Given the description of an element on the screen output the (x, y) to click on. 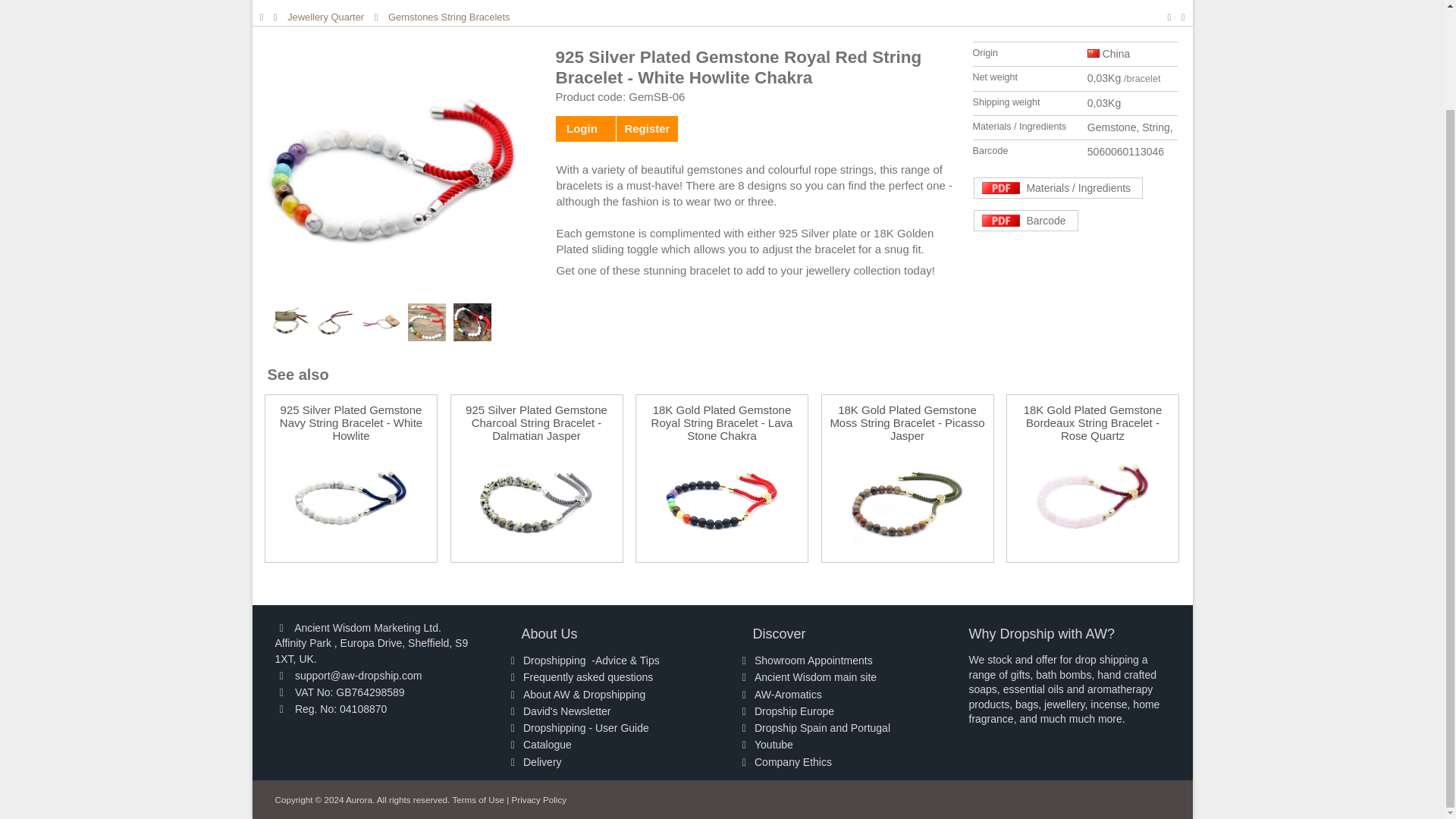
Home (287, 4)
Delivery (476, 4)
Departments (379, 4)
Inspiration (732, 4)
NEW (649, 4)
Catalogue (566, 4)
CHN (1093, 52)
